Given the description of an element on the screen output the (x, y) to click on. 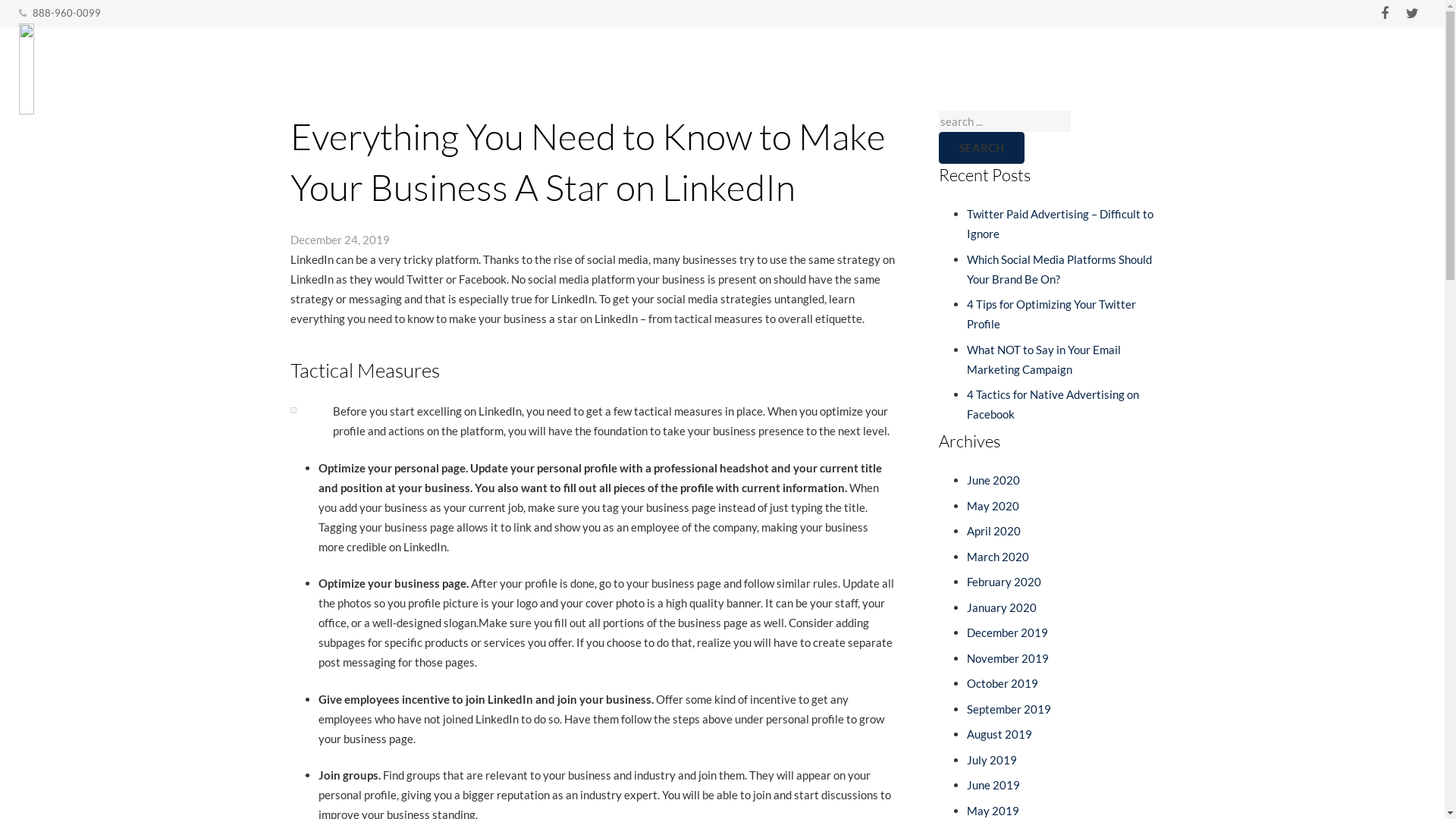
March 2020 Element type: text (997, 556)
November 2019 Element type: text (1007, 658)
April 2020 Element type: text (993, 530)
August 2019 Element type: text (999, 733)
Which Social Media Platforms Should Your Brand Be On? Element type: text (1058, 268)
October 2019 Element type: text (1002, 683)
February 2020 Element type: text (1003, 581)
May 2020 Element type: text (992, 505)
4 Tips for Optimizing Your Twitter Profile Element type: text (1050, 313)
September 2019 Element type: text (1008, 708)
4 Tactics for Native Advertising on Facebook Element type: text (1052, 403)
December 2019 Element type: text (1007, 632)
June 2019 Element type: text (992, 784)
SEARCH Element type: text (981, 147)
May 2019 Element type: text (992, 810)
January 2020 Element type: text (1001, 607)
What NOT to Say in Your Email Marketing Campaign Element type: text (1043, 359)
July 2019 Element type: text (991, 759)
June 2020 Element type: text (992, 479)
